Given the description of an element on the screen output the (x, y) to click on. 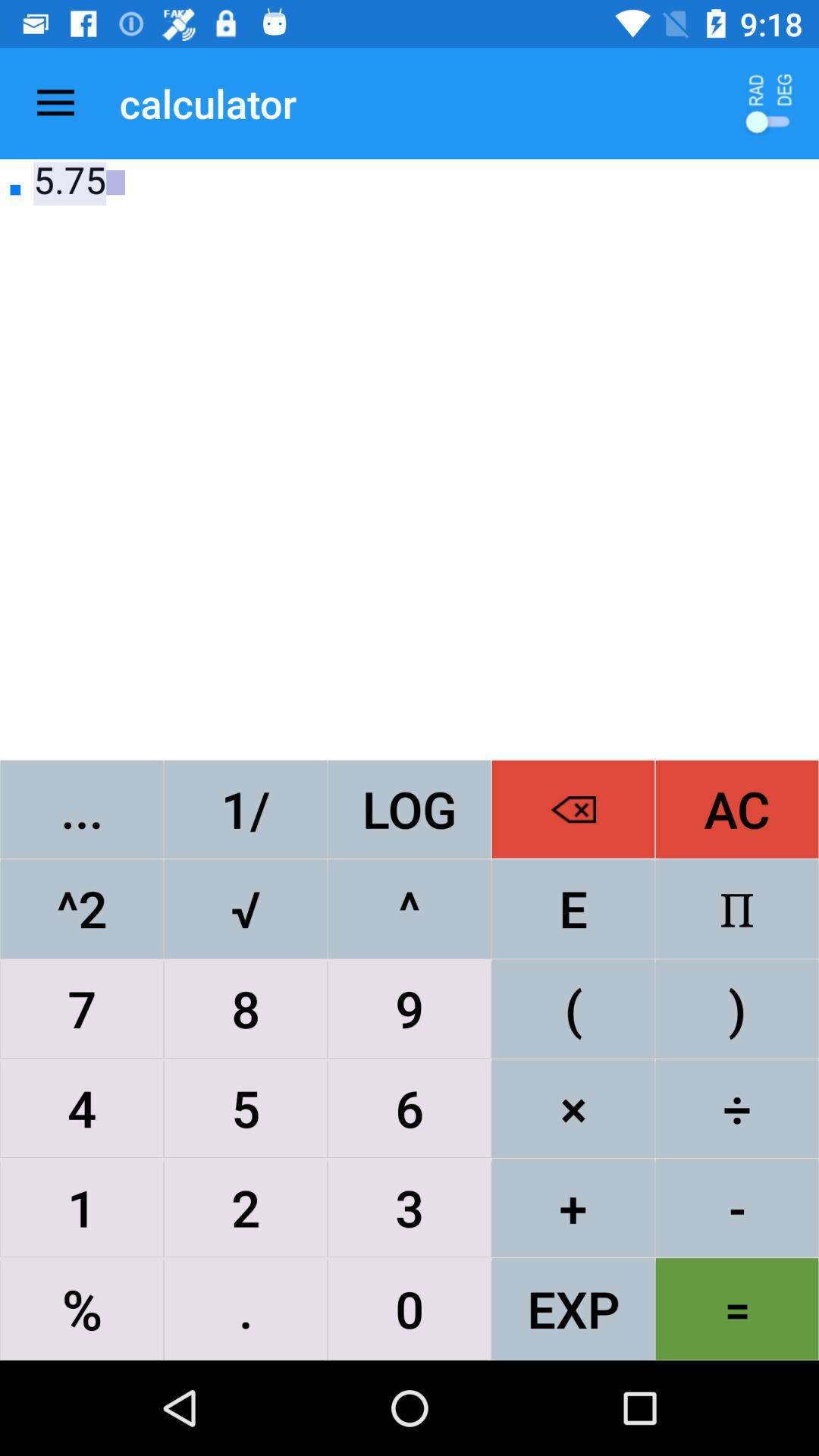
turn off icon to the left of ac item (572, 809)
